Given the description of an element on the screen output the (x, y) to click on. 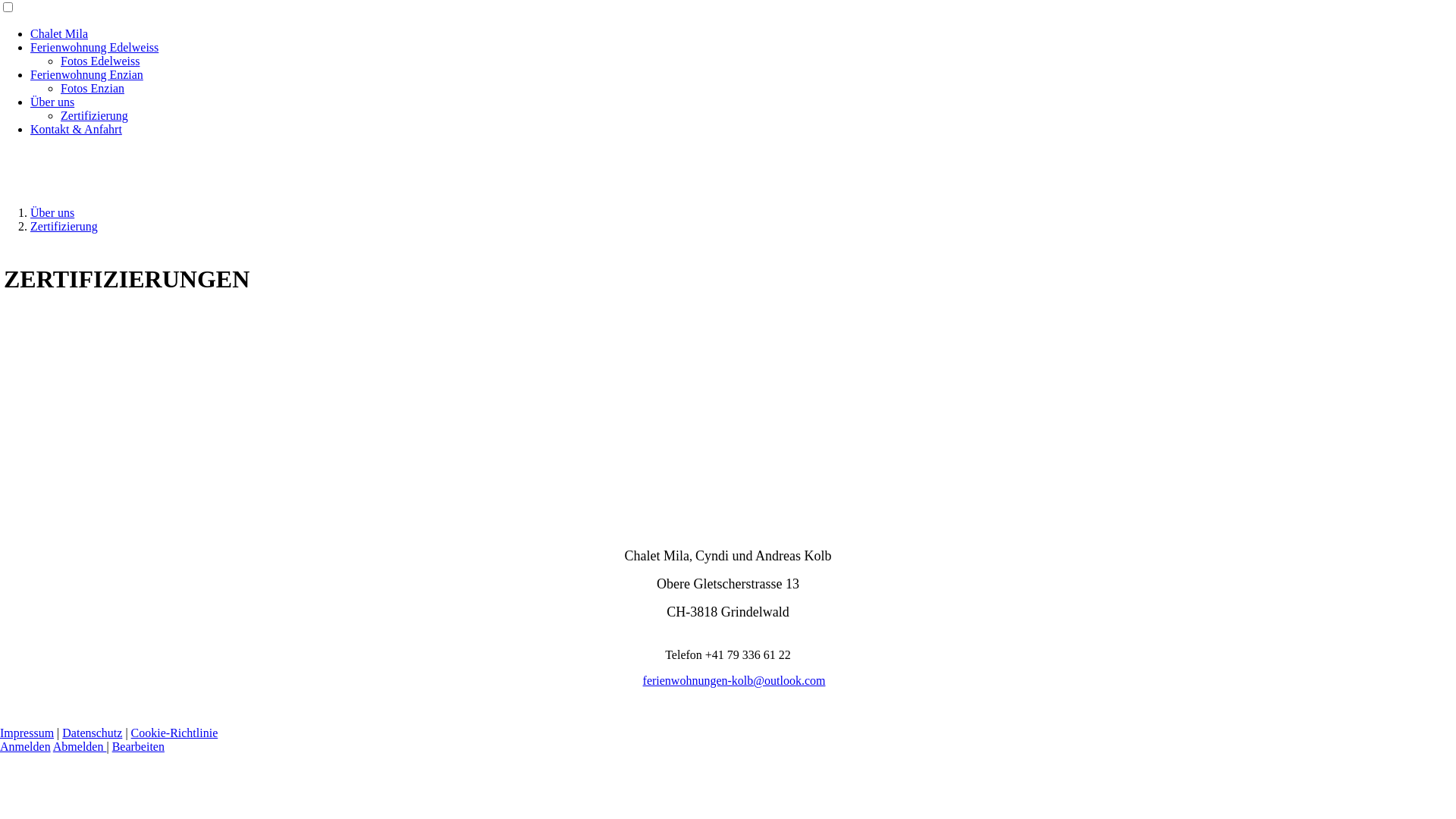
Cookie-Richtlinie Element type: text (174, 732)
Datenschutz Element type: text (92, 732)
Abmelden Element type: text (79, 746)
Ferienwohnung Edelweiss Element type: text (94, 46)
Zertifizierung Element type: text (94, 115)
ferienwohnungen-kolb@outlook.com Element type: text (734, 680)
Kontakt & Anfahrt Element type: text (76, 128)
Fotos Edelweiss Element type: text (99, 60)
Bearbeiten Element type: text (138, 746)
Fotos Enzian Element type: text (92, 87)
Chalet Mila Element type: text (58, 33)
Anmelden Element type: text (25, 746)
Impressum Element type: text (26, 732)
Ferienwohnung Enzian Element type: text (86, 74)
Zertifizierung Element type: text (63, 225)
